Given the description of an element on the screen output the (x, y) to click on. 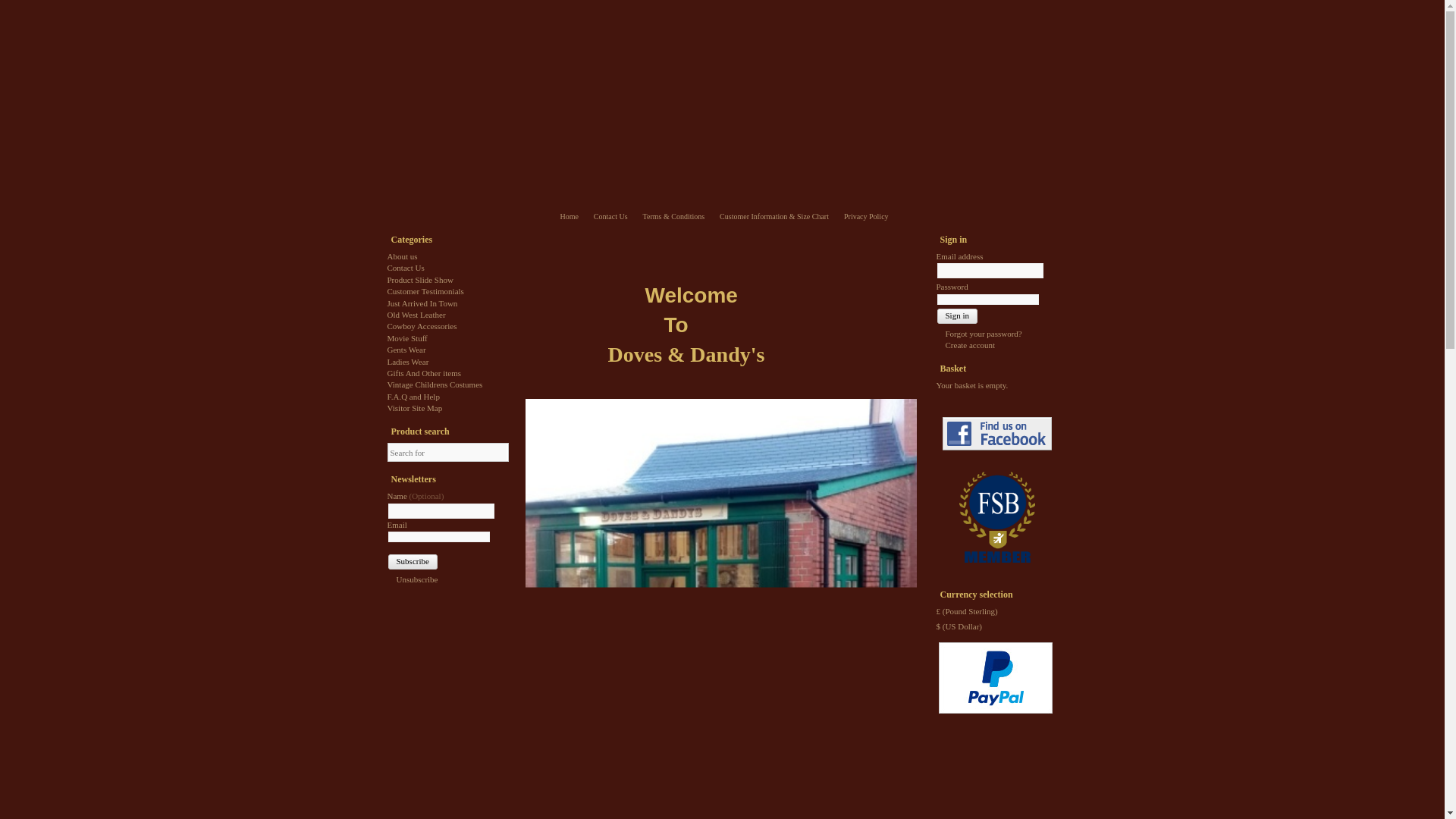
Visitor Site Map (414, 407)
Unsubscribe (412, 578)
Start search (494, 451)
Categories (448, 239)
Privacy Policy (870, 216)
Movie Stuff (406, 338)
About us (401, 256)
Contact Us (405, 266)
Just Arrived In Town (422, 302)
Create account (965, 344)
